Given the description of an element on the screen output the (x, y) to click on. 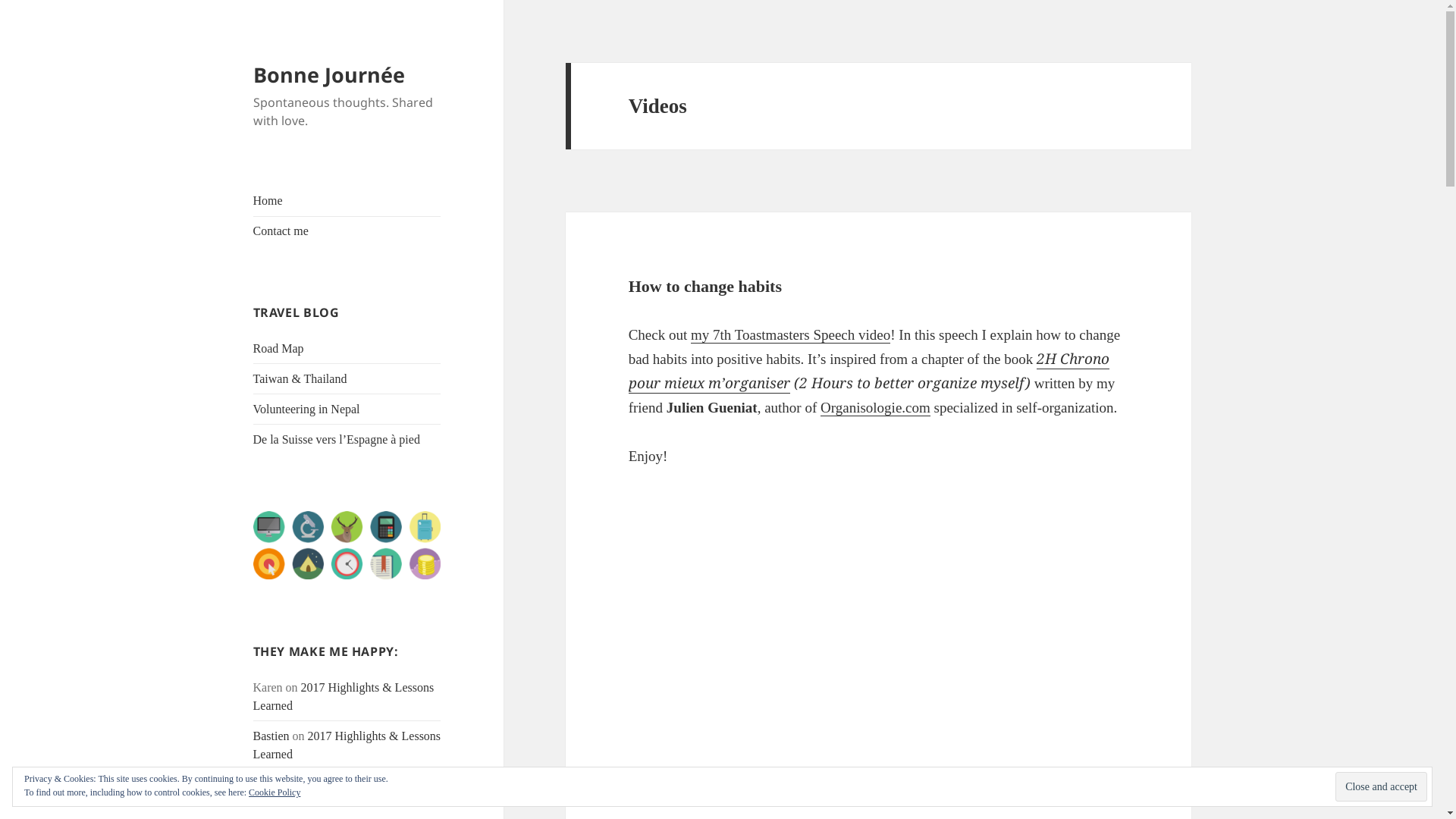
Road Map Element type: text (278, 348)
Volunteering in Nepal Element type: text (306, 408)
Organisologie.com Element type: text (875, 407)
2017 Highlights & Lessons Learned Element type: text (347, 744)
Bastien Element type: text (271, 735)
Achraf Aouadi Element type: text (289, 784)
How to change habits Element type: text (704, 285)
Home Element type: text (267, 200)
Close and accept Element type: text (1381, 786)
Taiwan & Thailand Element type: text (300, 378)
Contact me Element type: text (280, 230)
2017 Highlights & Lessons Learned Element type: text (343, 696)
2017 Highlights & Lessons Learned Element type: text (343, 793)
Cookie Policy Element type: text (274, 792)
my 7th Toastmasters Speech video Element type: text (790, 334)
